Given the description of an element on the screen output the (x, y) to click on. 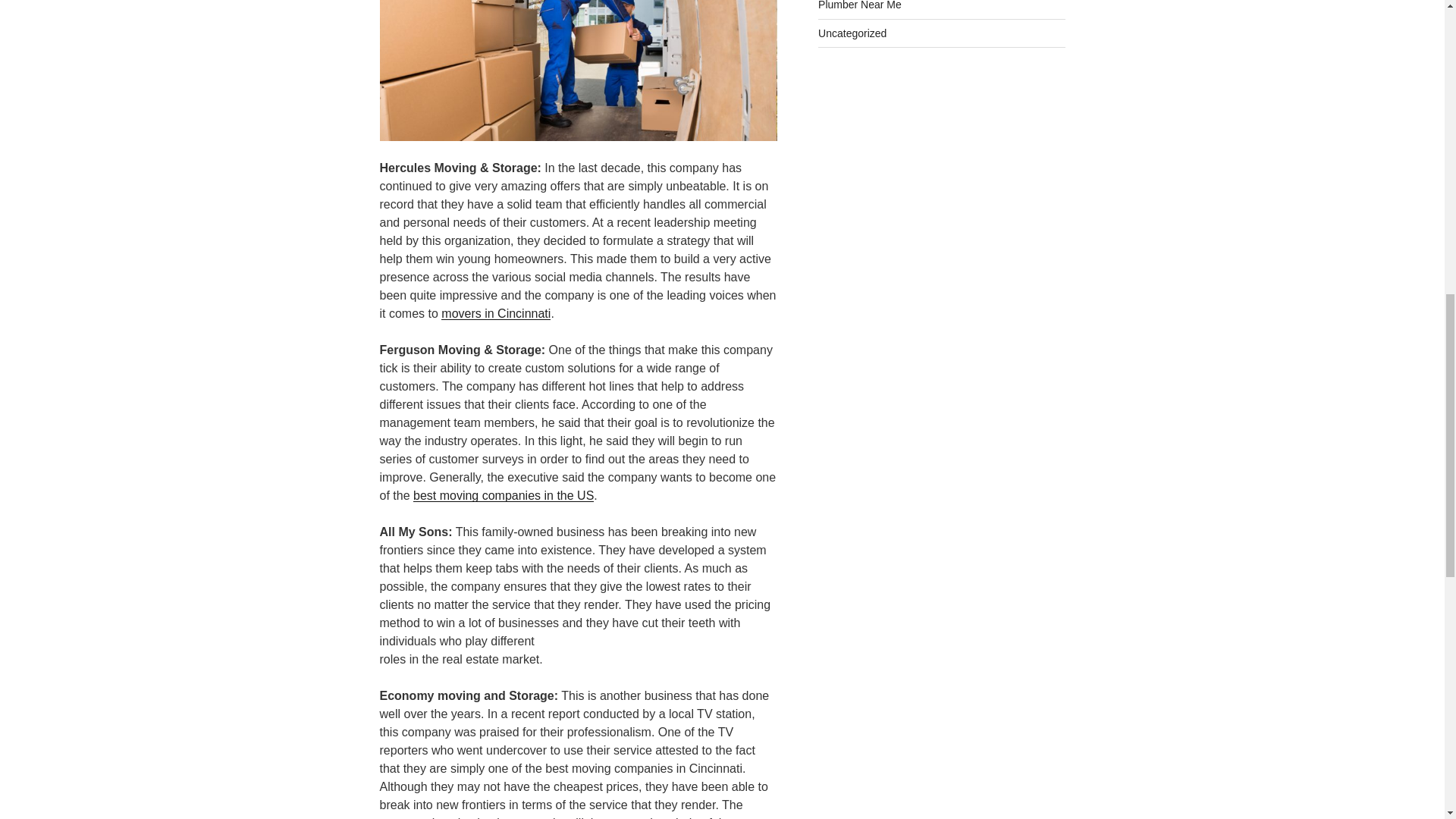
movers in Cincinnati (495, 313)
Plumber Near Me (859, 5)
Uncategorized (852, 33)
best moving companies in the US (503, 495)
